Given the description of an element on the screen output the (x, y) to click on. 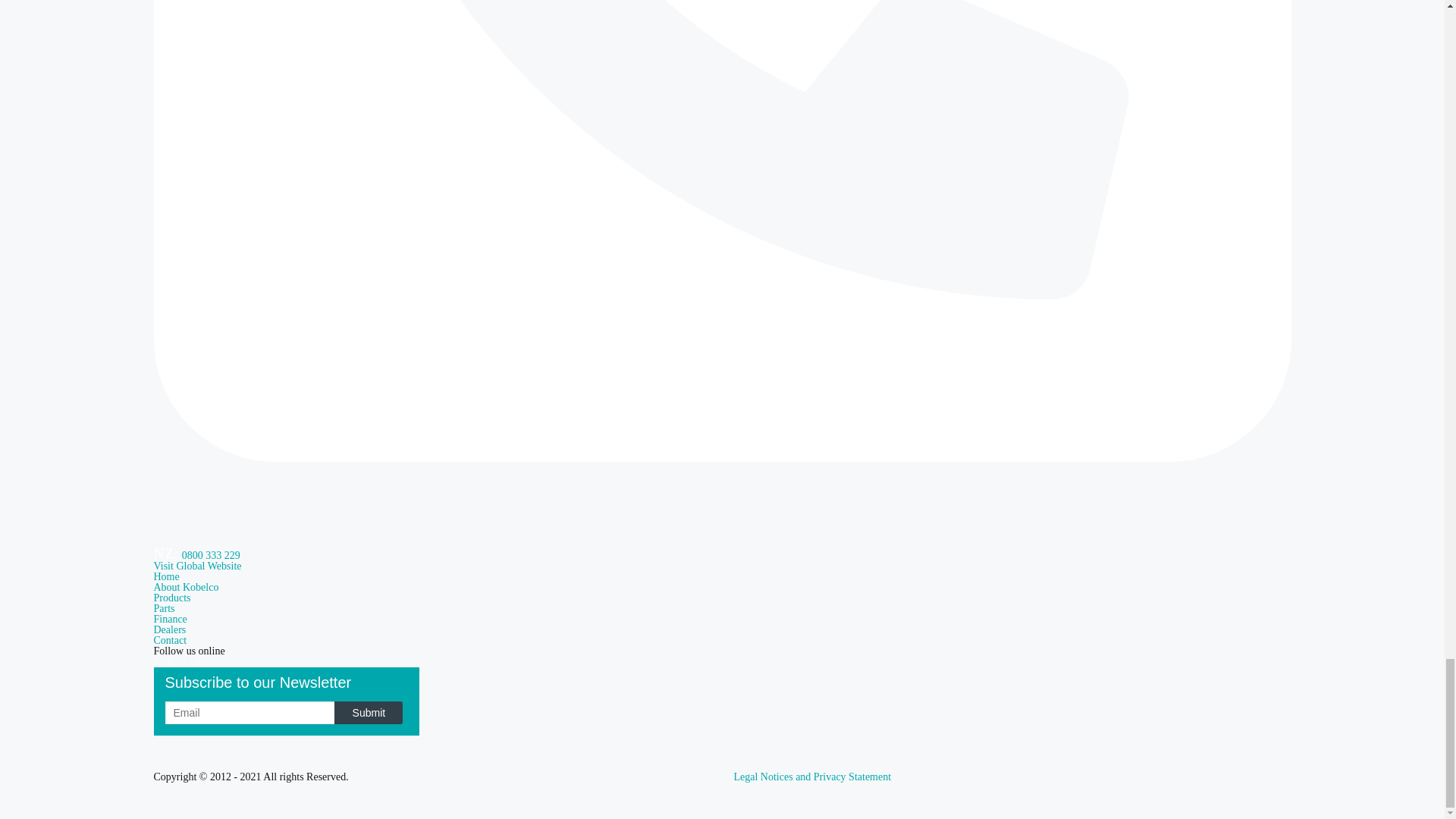
NZ Phone Number (211, 555)
Visit Global Website (196, 565)
Submit (368, 712)
Home (165, 576)
